Given the description of an element on the screen output the (x, y) to click on. 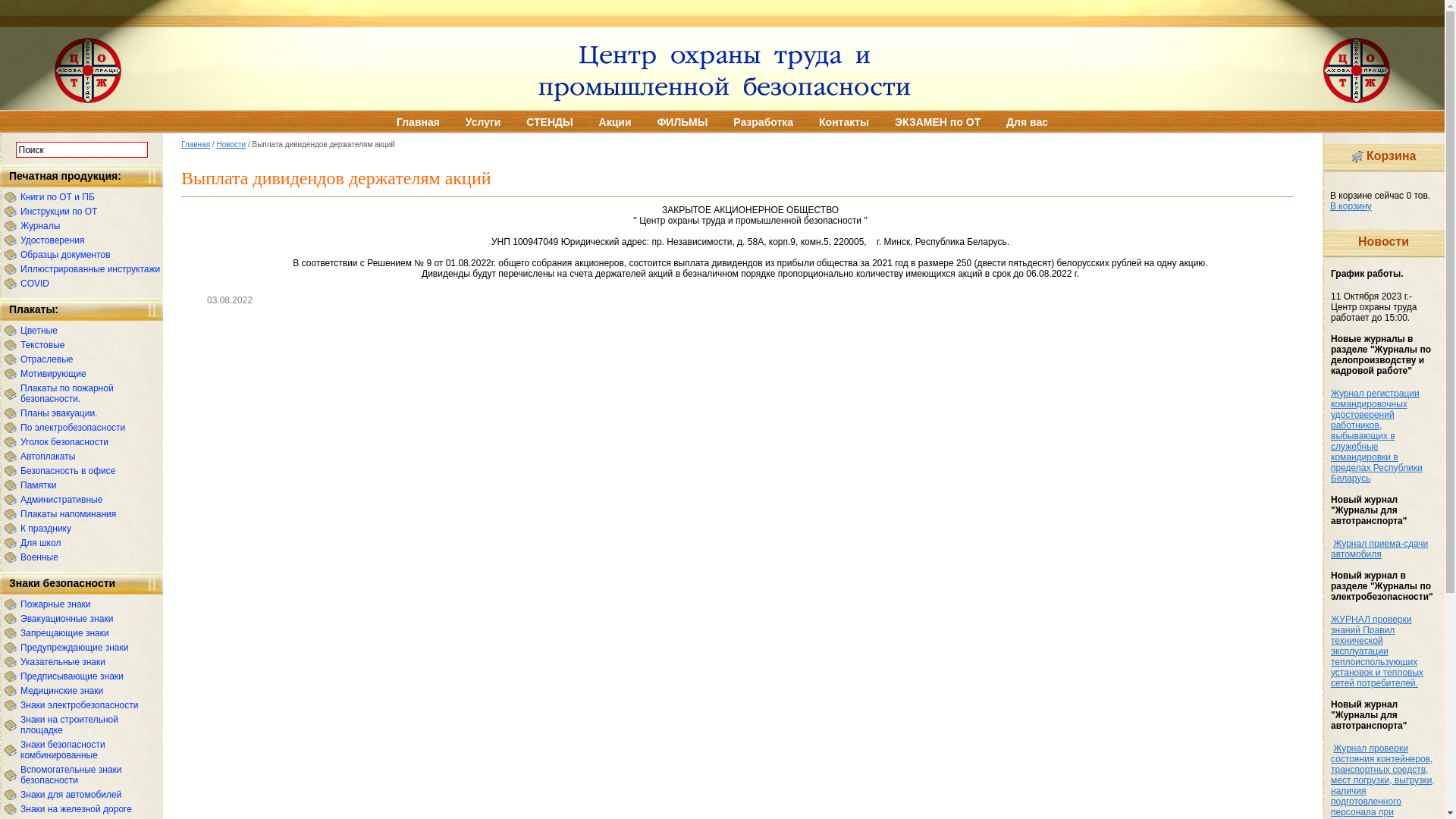
COVID Element type: text (34, 283)
